Given the description of an element on the screen output the (x, y) to click on. 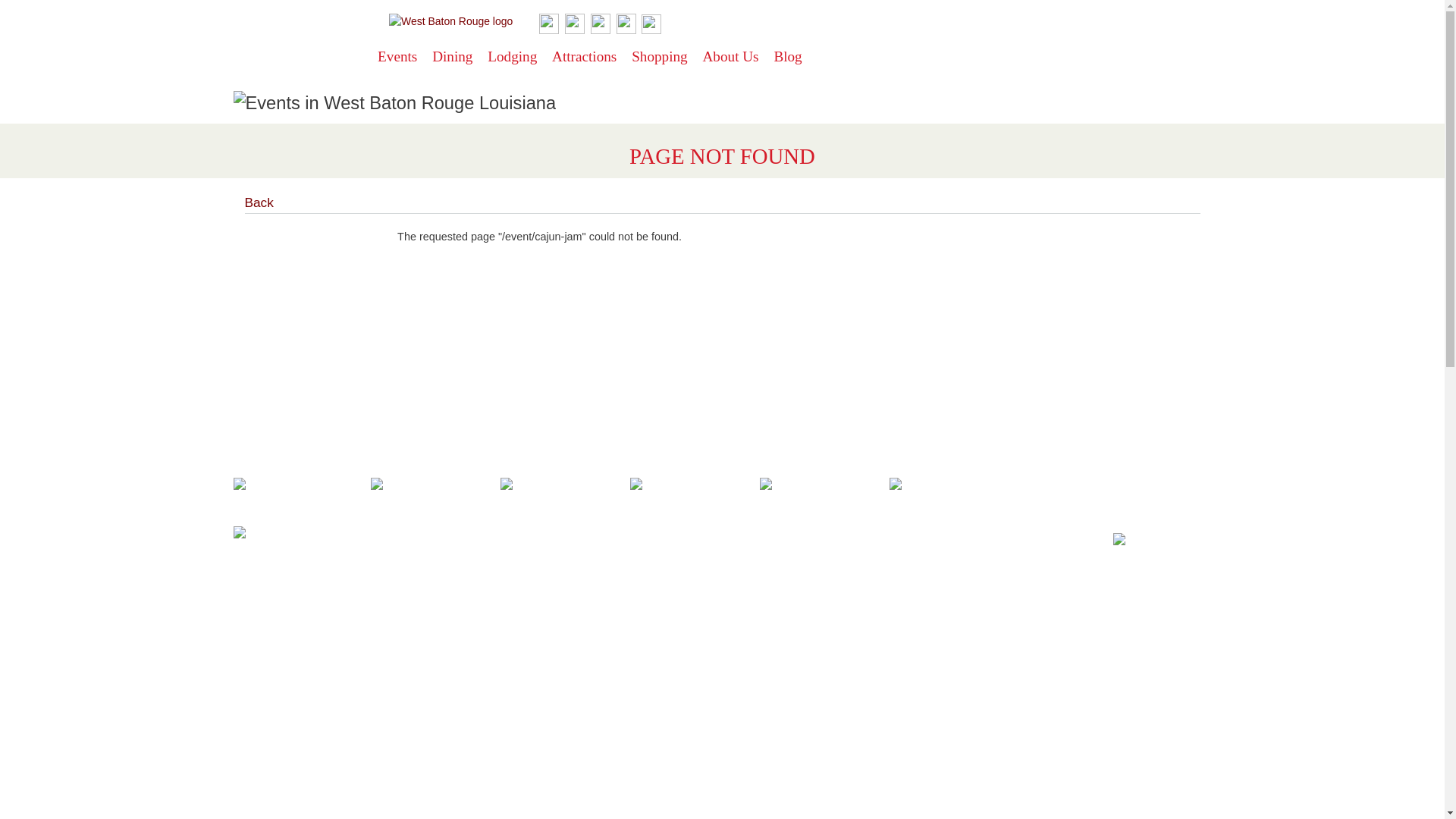
West Baton Rouge Itinerary (435, 484)
West Baton Rouge Itinerary (565, 484)
Shopping (664, 58)
Events (402, 58)
West Baton Rouge Itinerary (954, 484)
Skip to main content (689, 1)
Lodging (517, 58)
Events in West Baton Rouge Louisiana (394, 103)
West Baton Rouge Itineraries (301, 484)
West Baton Rouge Itinerary (824, 484)
